Given the description of an element on the screen output the (x, y) to click on. 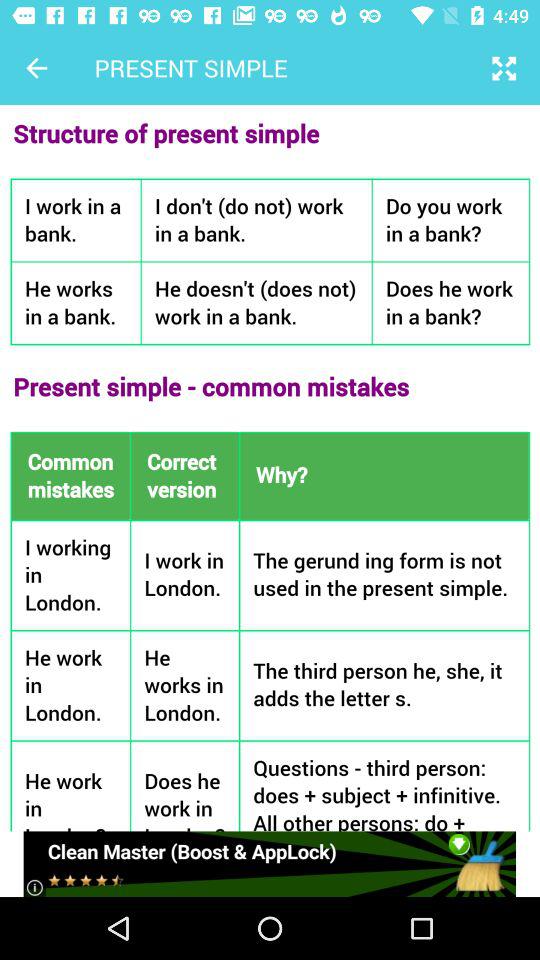
present simple page (270, 468)
